Given the description of an element on the screen output the (x, y) to click on. 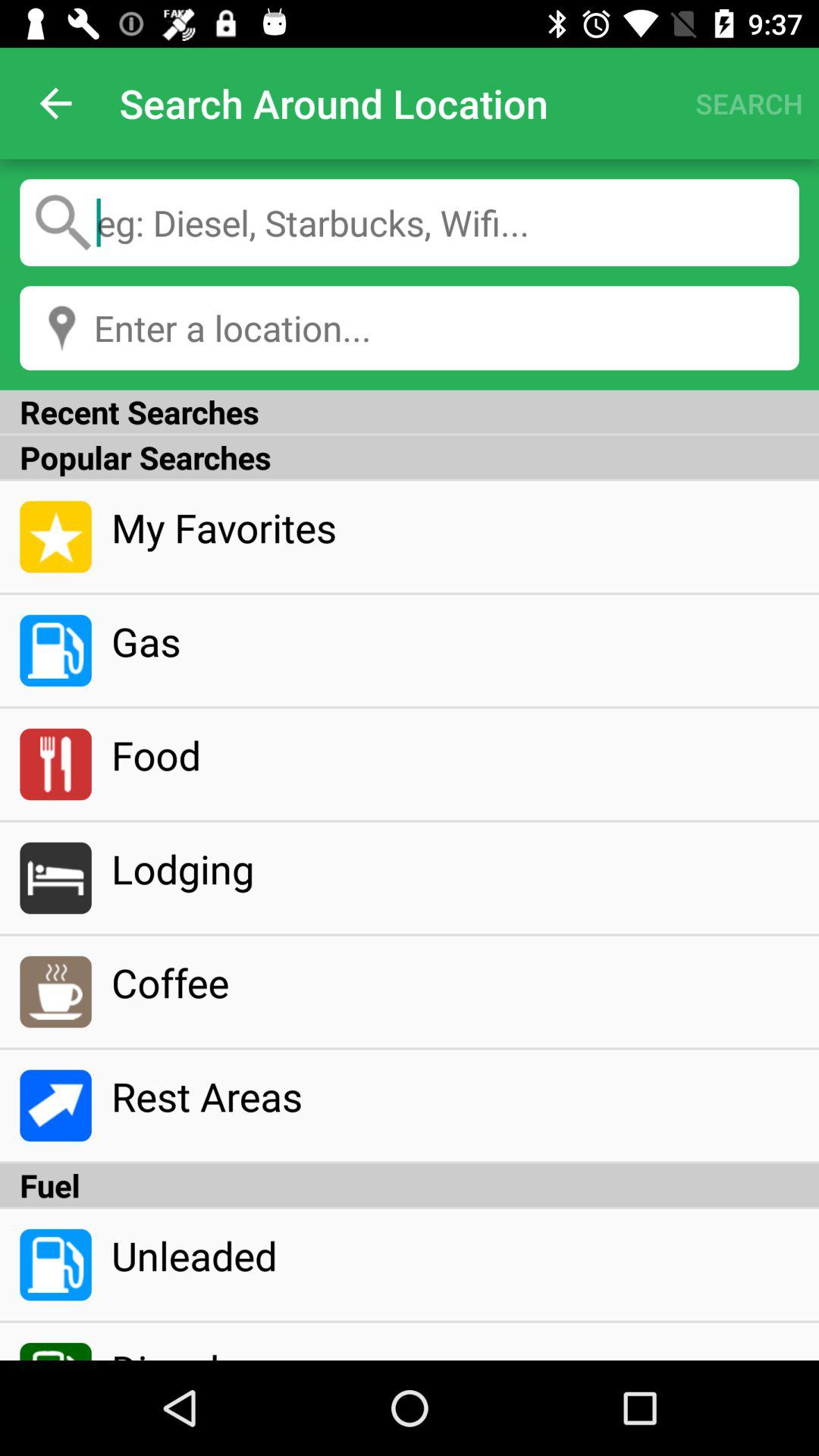
open item to the left of search around location (55, 103)
